Given the description of an element on the screen output the (x, y) to click on. 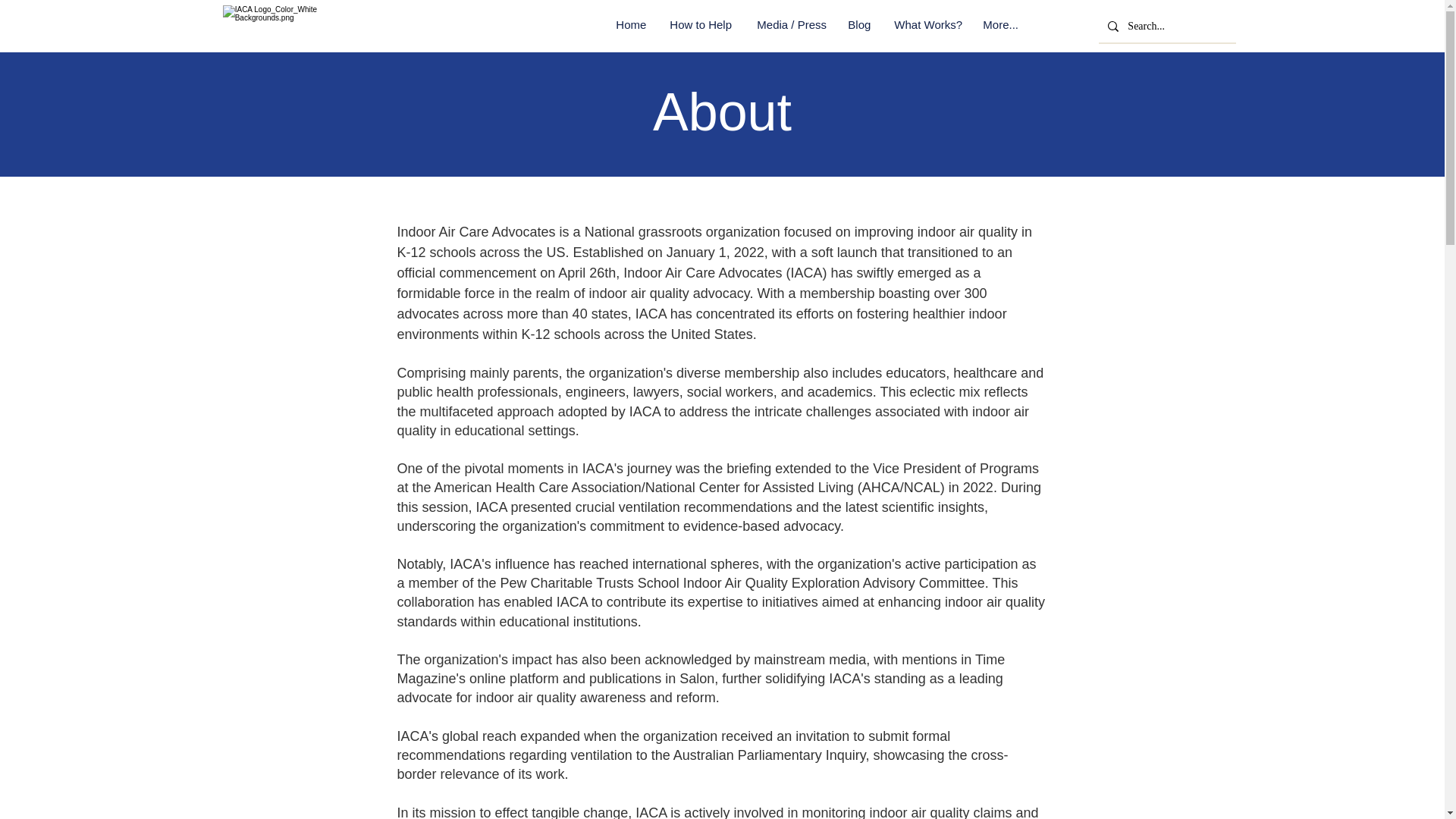
Home (631, 24)
What Works? (926, 24)
Blog (858, 24)
How to Help (701, 24)
